Given the description of an element on the screen output the (x, y) to click on. 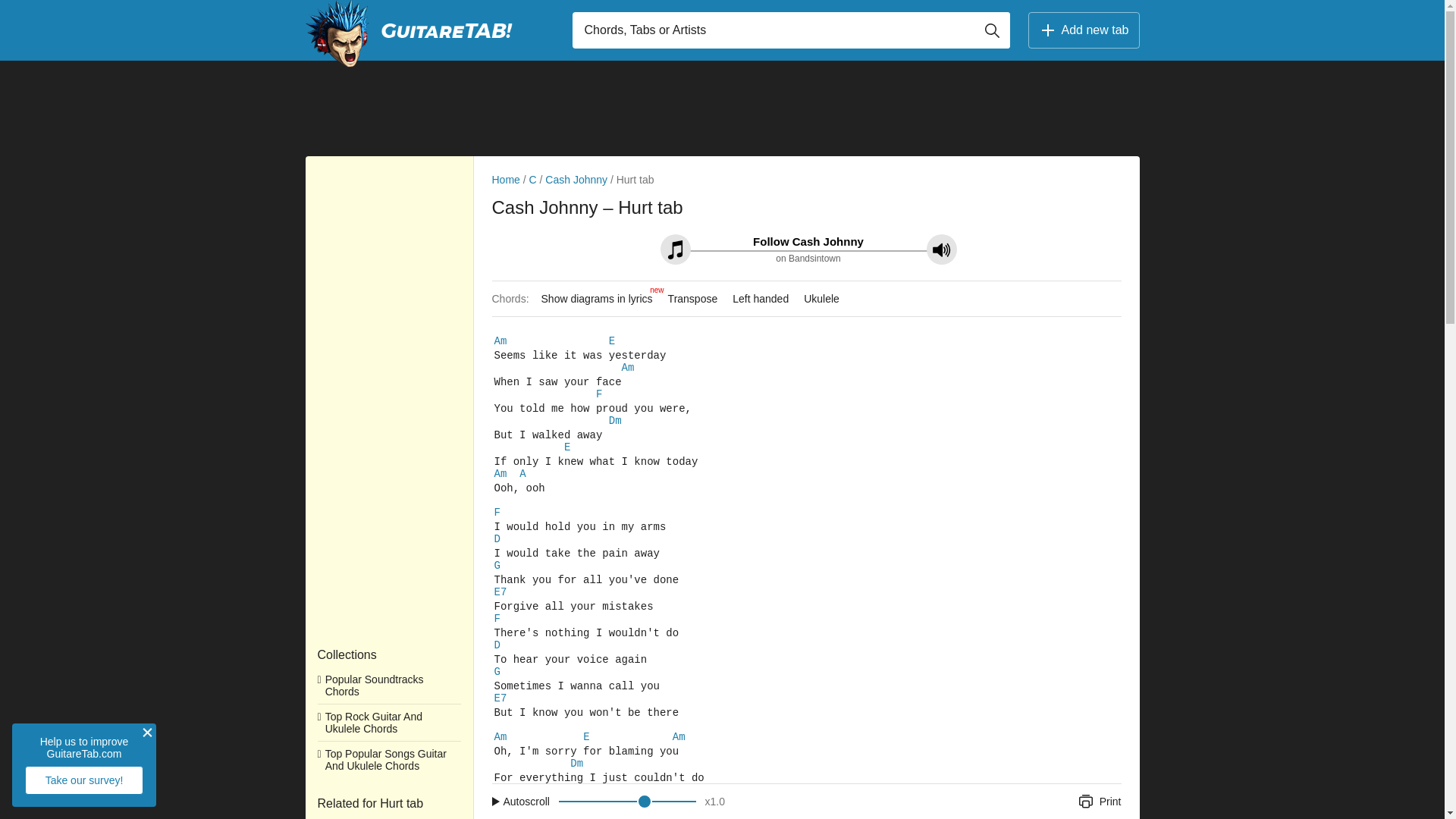
Autoscroll (524, 801)
Guitaretab - guitar tabs (336, 33)
Autoscroll (524, 801)
Ukulele (821, 298)
1.0 (716, 801)
1 (627, 801)
Take our survey! (83, 779)
Add new tab (1083, 30)
Cash Johnny (575, 179)
Print (1094, 801)
